Given the description of an element on the screen output the (x, y) to click on. 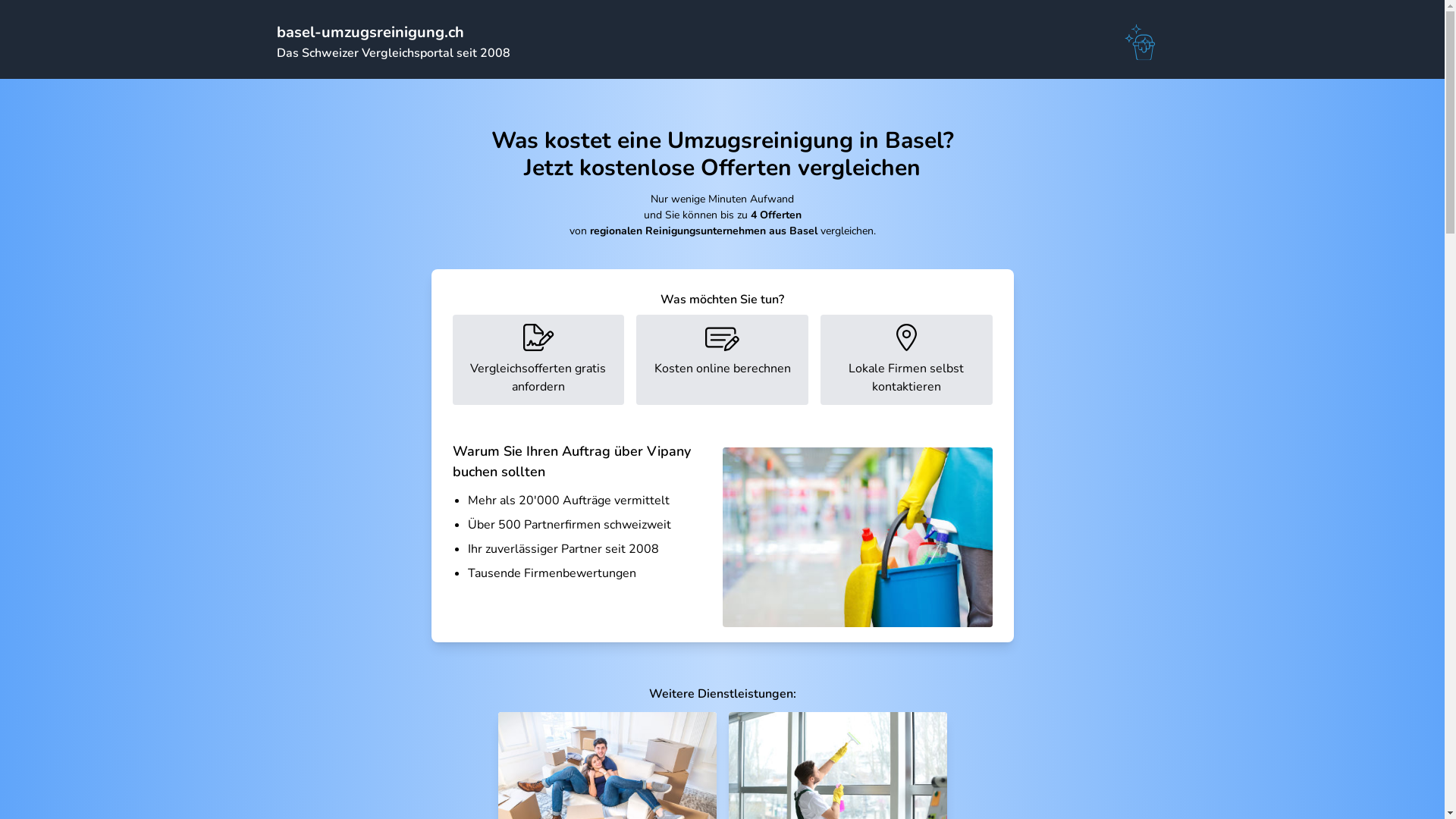
basel-umzugsreinigung.ch Element type: text (369, 31)
